Given the description of an element on the screen output the (x, y) to click on. 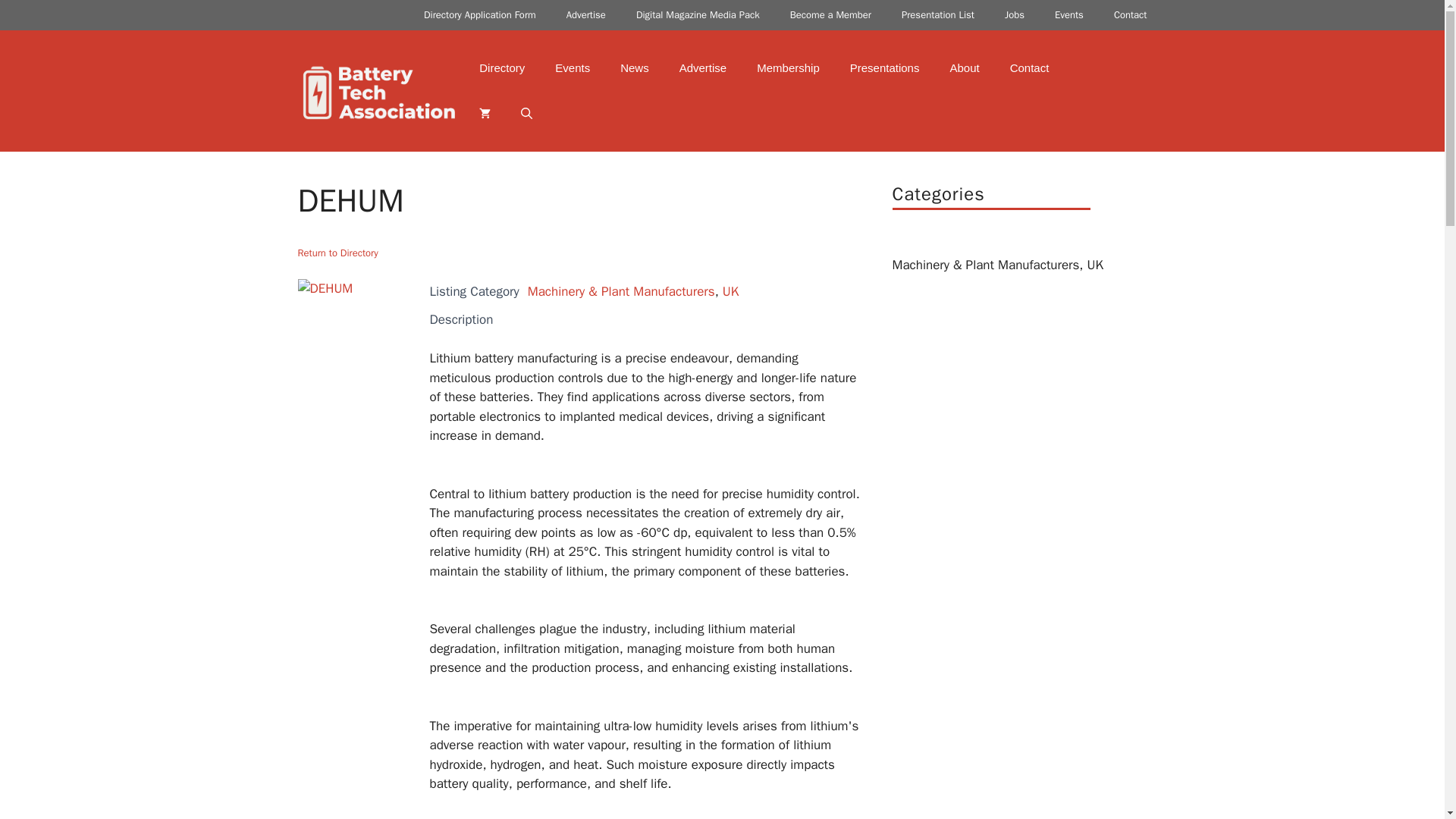
Become a Member (830, 15)
Events (1069, 15)
UK (1095, 264)
Contact (1130, 15)
About (964, 67)
Directory Application Form (480, 15)
Contact (1029, 67)
View your shopping cart (484, 113)
Return to Directory (337, 252)
Digital Magazine Media Pack (697, 15)
